Given the description of an element on the screen output the (x, y) to click on. 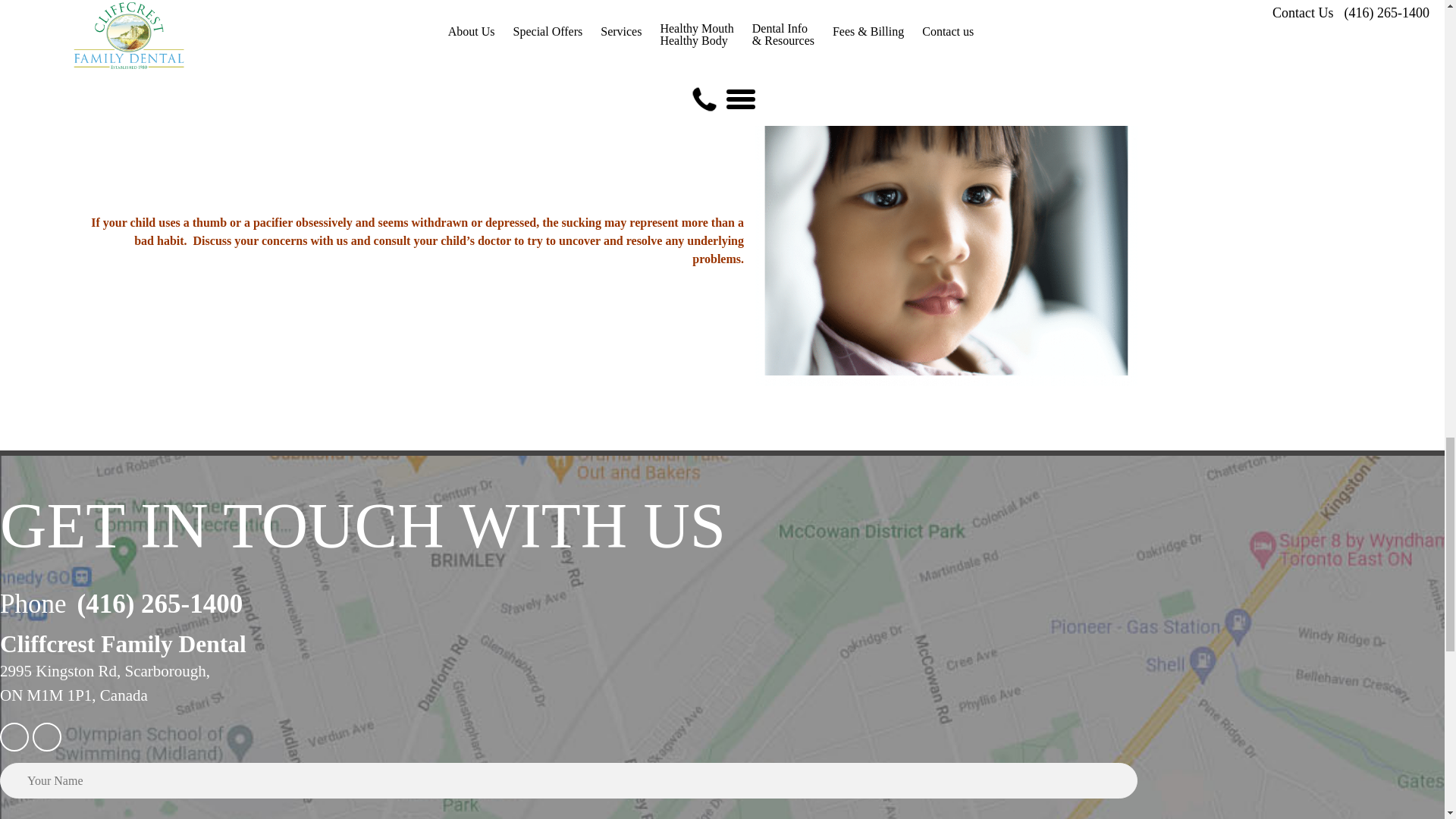
Instagram (14, 736)
Facebook (46, 736)
